Given the description of an element on the screen output the (x, y) to click on. 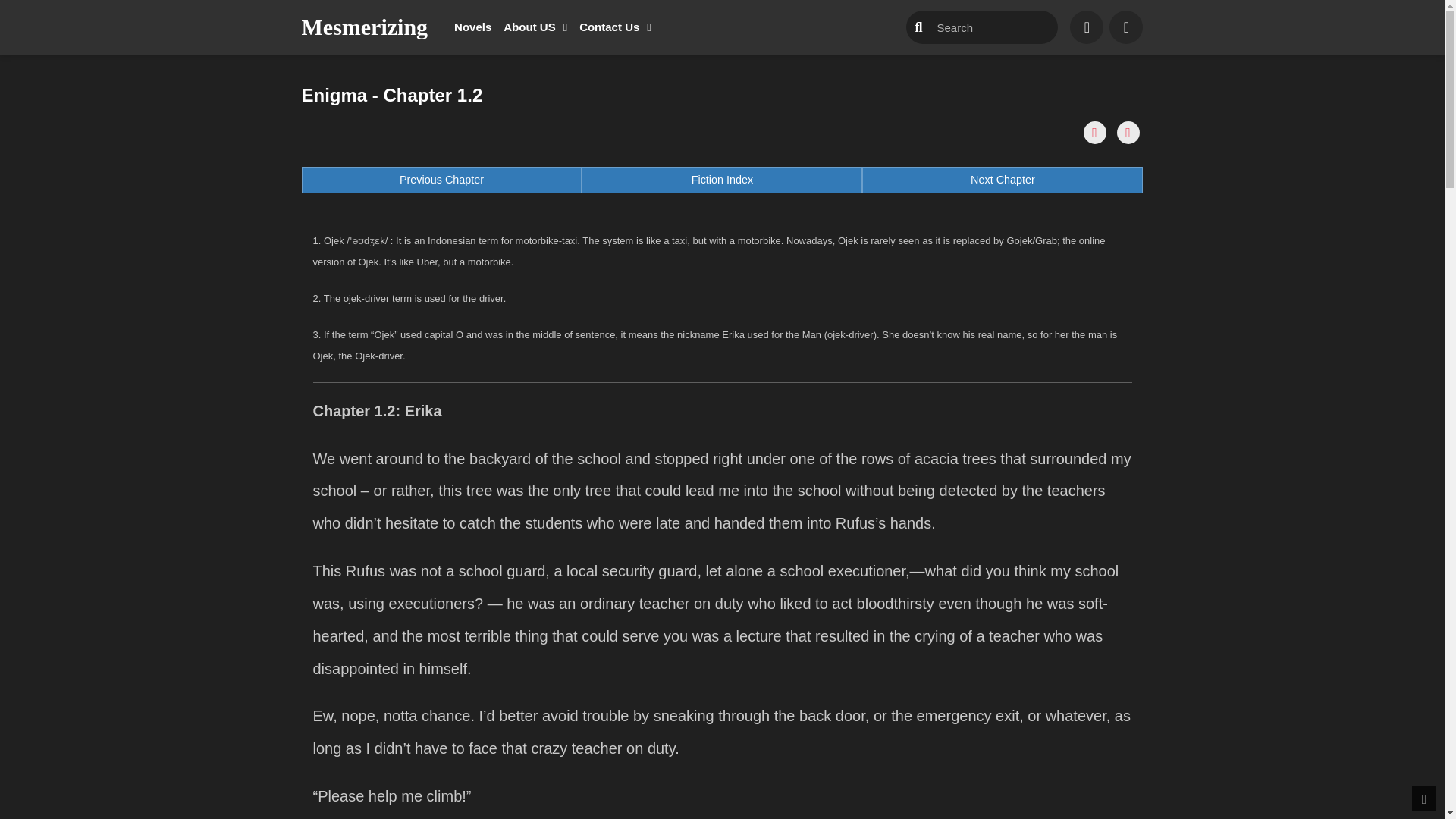
About US (1001, 180)
Mesmerizing Memoirs (720, 180)
Novels (535, 27)
Contact Us (364, 26)
Mesmerizing (473, 27)
